Given the description of an element on the screen output the (x, y) to click on. 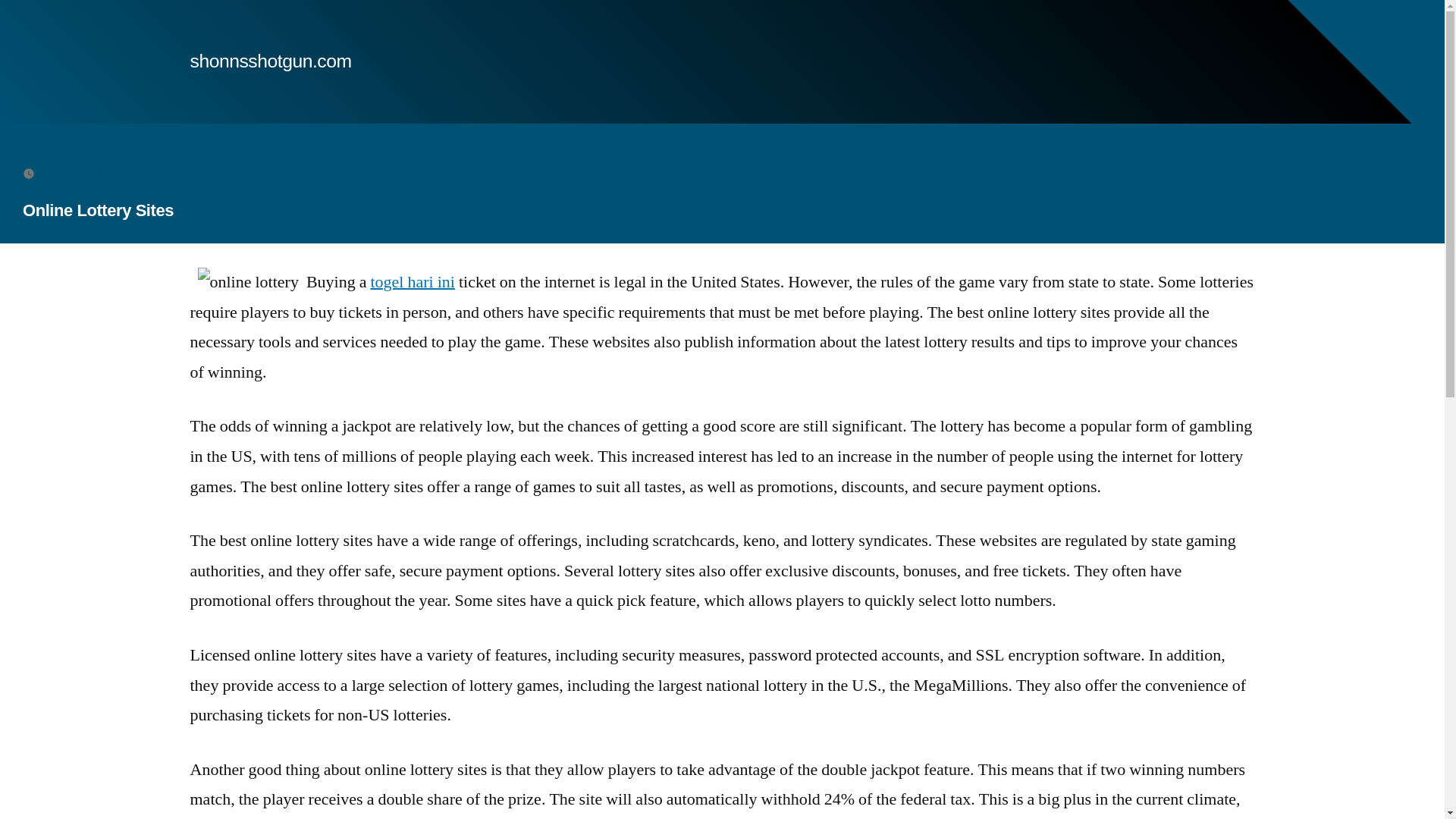
shonnsshotgun.com (269, 60)
December 13, 2022 (92, 173)
togel hari ini (411, 281)
